Given the description of an element on the screen output the (x, y) to click on. 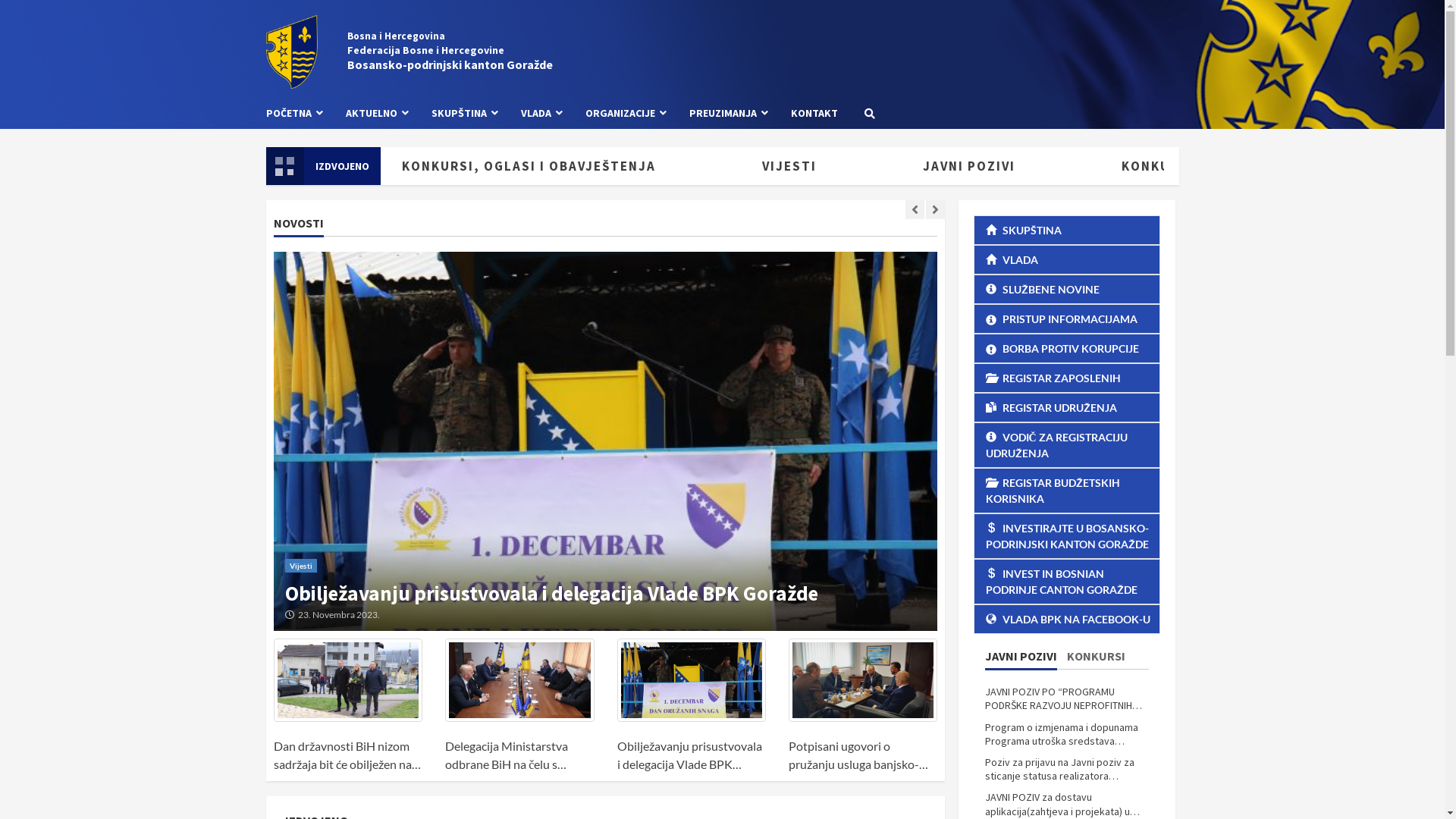
Search Element type: hover (869, 112)
AKTUELNO Element type: text (376, 112)
Vijesti Element type: text (300, 542)
VLADA BPK NA FACEBOOK-U Element type: text (1066, 618)
KONKURSI Element type: text (1095, 658)
JAVNI POZIVI Element type: text (1020, 658)
ORGANIZACIJE Element type: text (625, 112)
KONTAKT Element type: text (808, 112)
JAVNI POZIVI Element type: text (1017, 166)
PREUZIMANJA Element type: text (728, 112)
VLADA Element type: text (541, 112)
VIJESTI Element type: text (838, 166)
Pretraga Element type: text (835, 164)
REGISTAR ZAPOSLENIH Element type: text (1066, 377)
VLADA Element type: text (1066, 259)
